Given the description of an element on the screen output the (x, y) to click on. 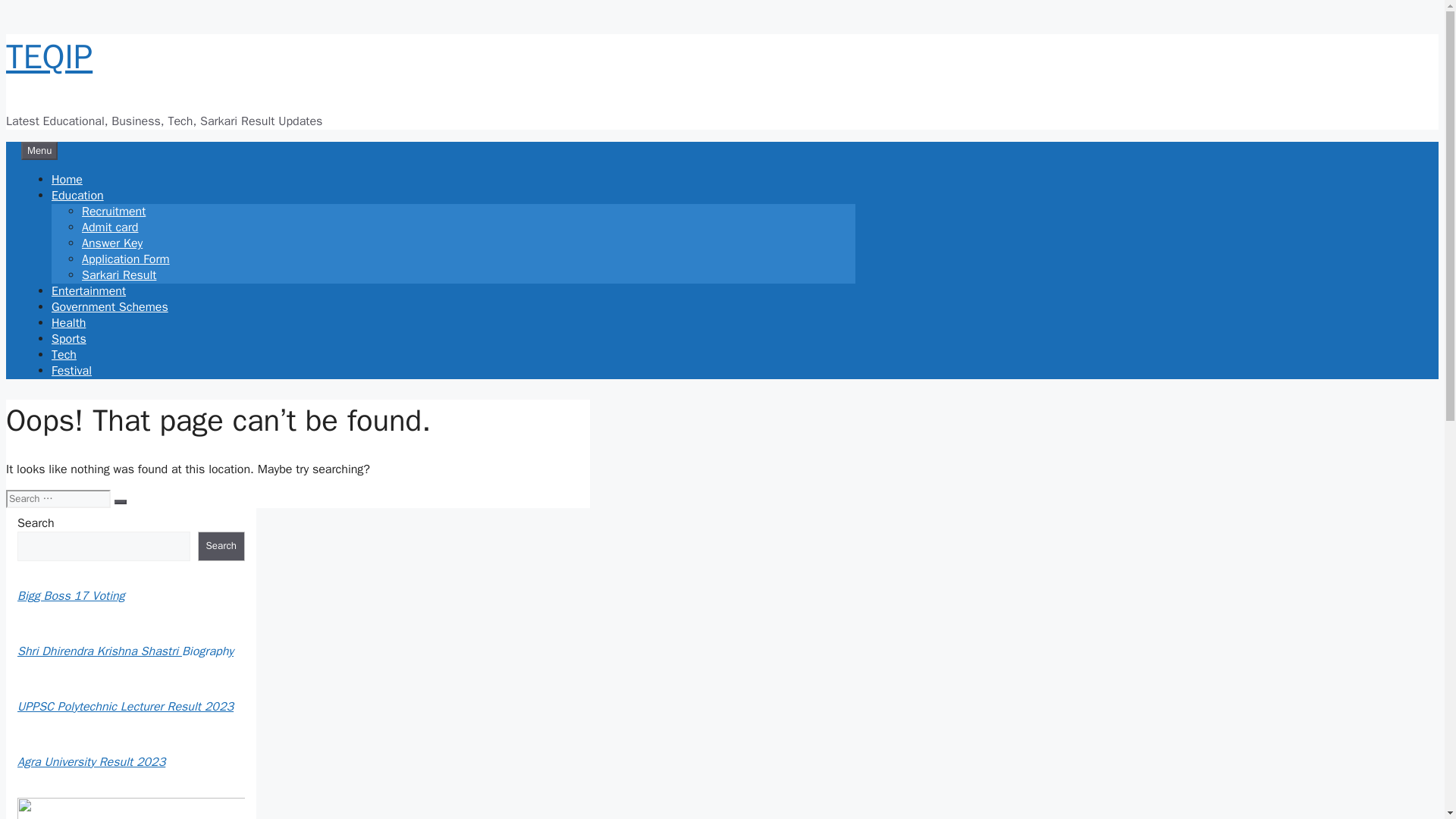
Government Schemes (109, 306)
Education (76, 195)
UPPSC Polytechnic Lecturer Result 2023 (124, 706)
Search for: (57, 498)
Admit card (109, 227)
Bigg Boss 17 Voting (71, 595)
Search (221, 546)
Health (67, 322)
Agra University Result 2023 (91, 761)
